Given the description of an element on the screen output the (x, y) to click on. 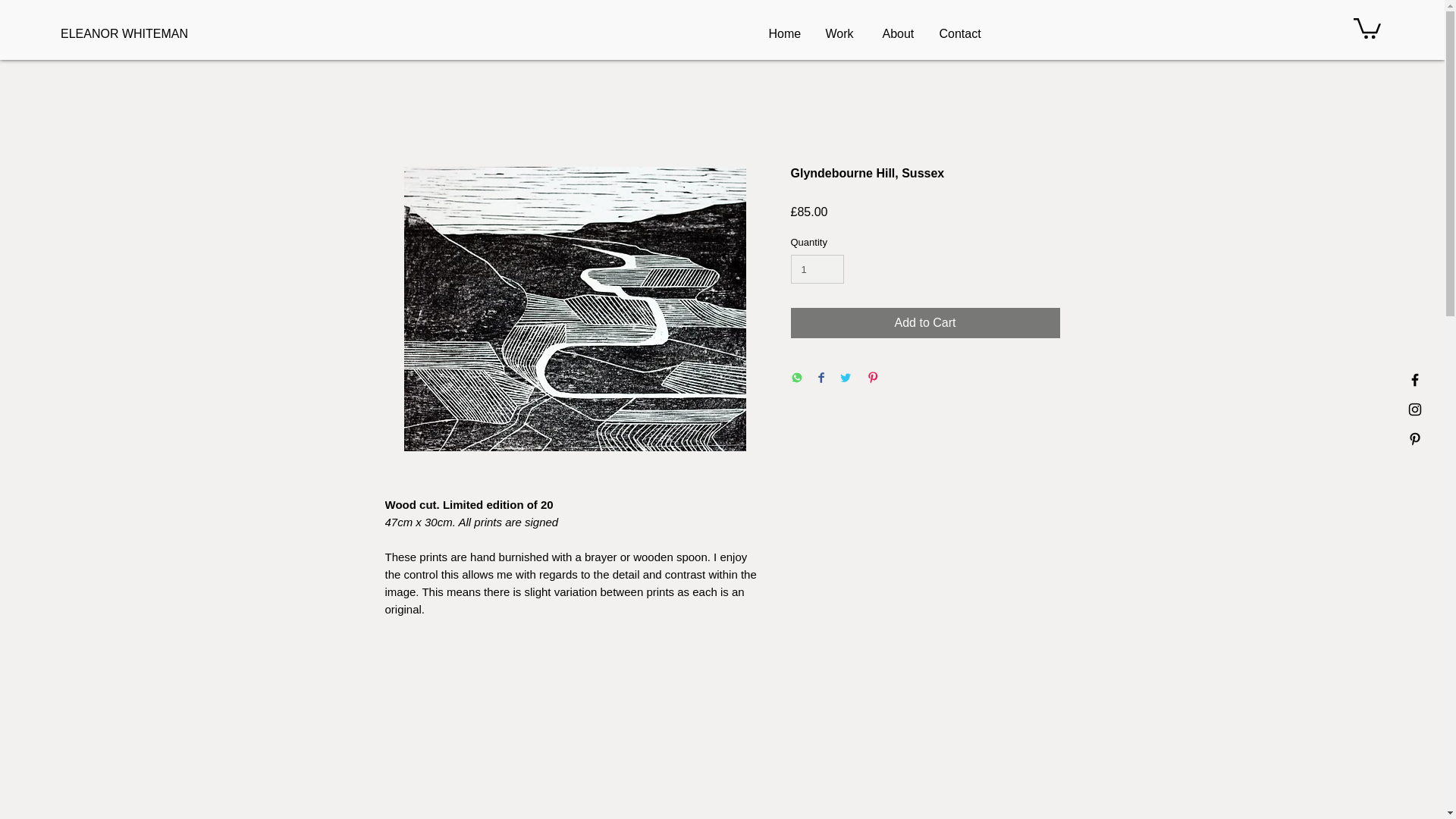
1 (817, 268)
About (903, 34)
Contact (959, 34)
ELEANOR WHITEMAN (133, 33)
Work (845, 34)
Add to Cart (924, 322)
Home (789, 34)
